Given the description of an element on the screen output the (x, y) to click on. 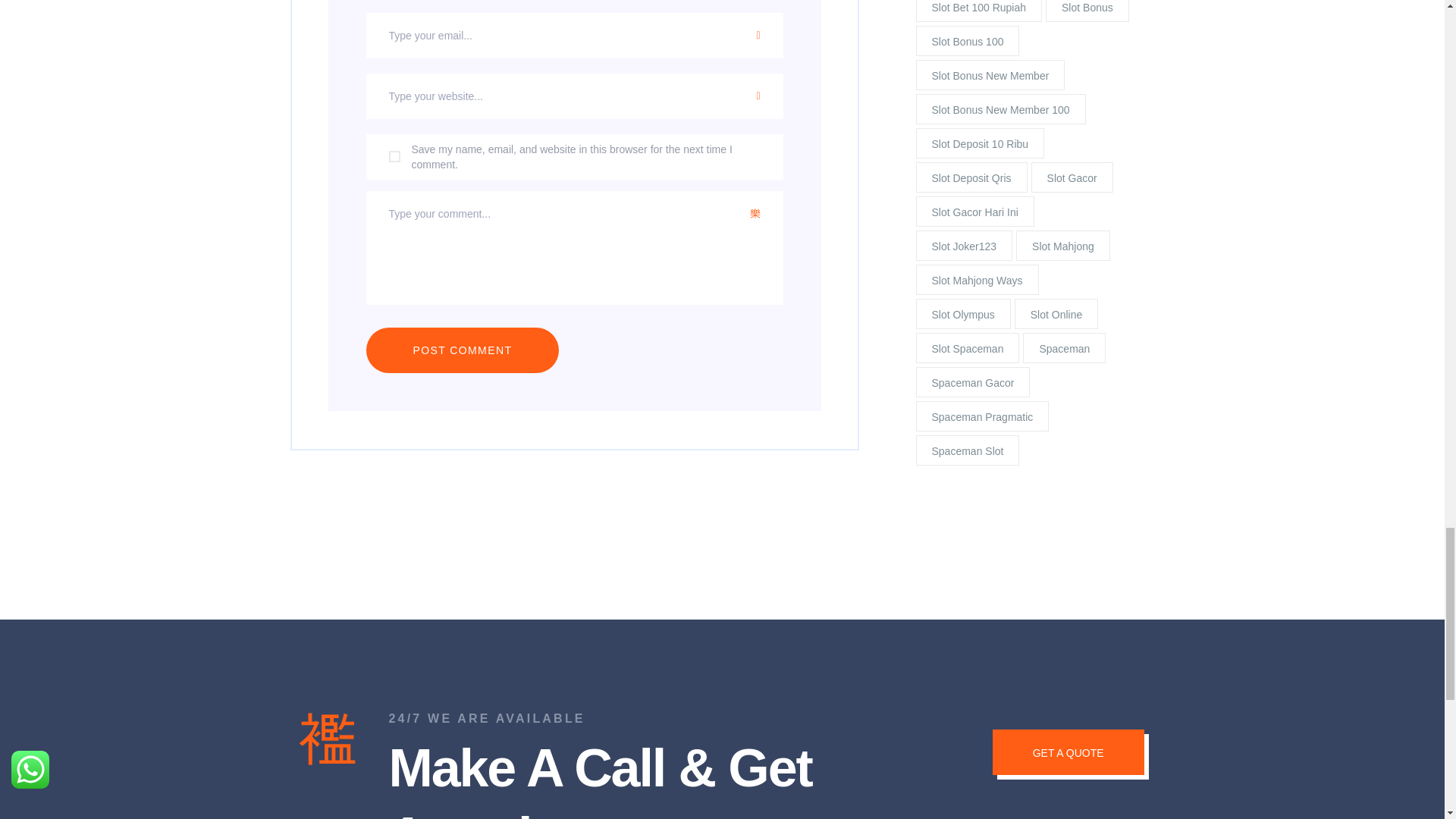
Post Comment (462, 350)
